Given the description of an element on the screen output the (x, y) to click on. 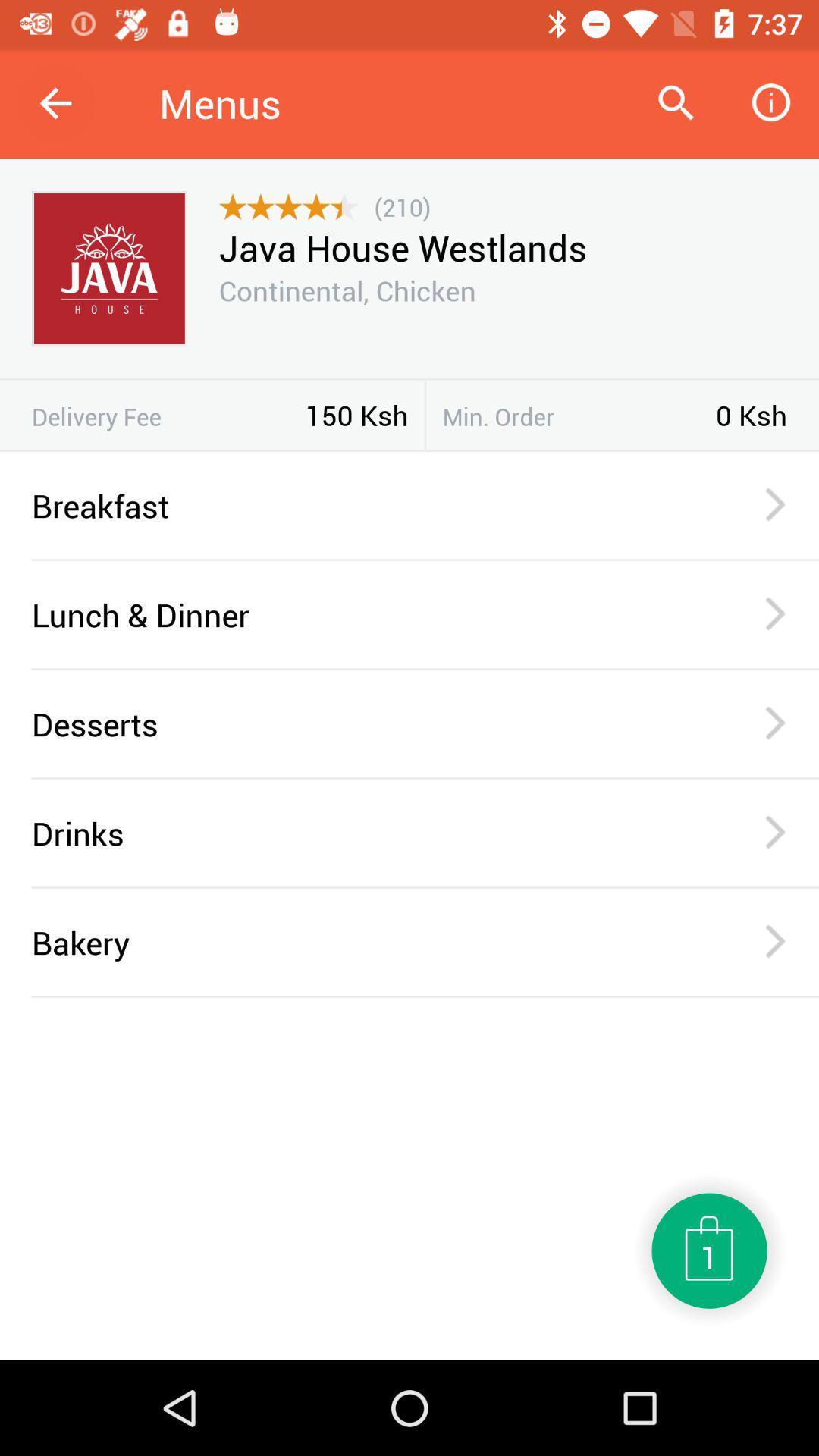
launch the icon below menus (402, 207)
